Given the description of an element on the screen output the (x, y) to click on. 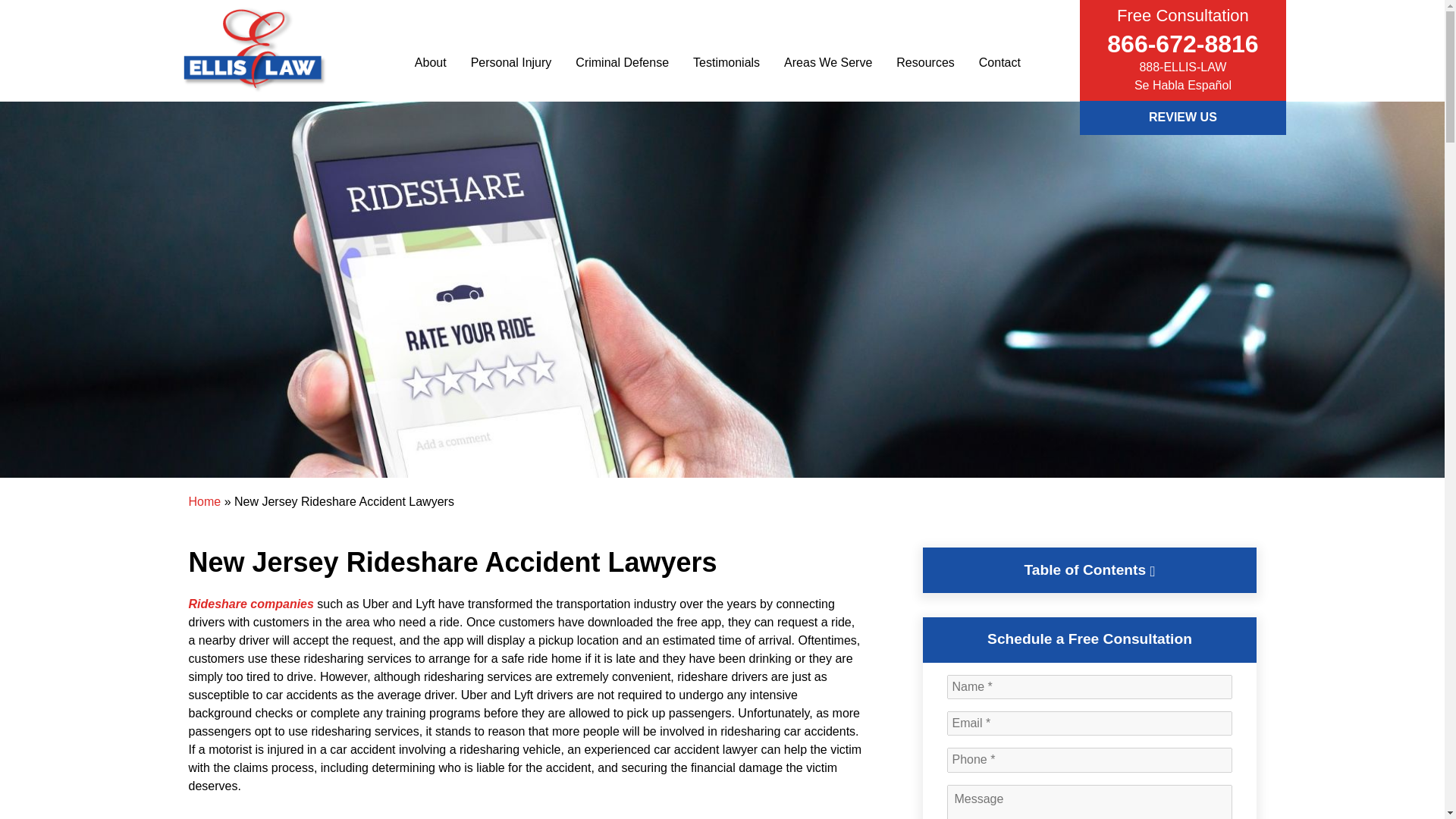
Testimonials (726, 62)
Criminal Defense (621, 62)
About (430, 62)
Areas We Serve (828, 62)
Personal Injury (510, 62)
Ellis Law, P.C. (221, 113)
